Given the description of an element on the screen output the (x, y) to click on. 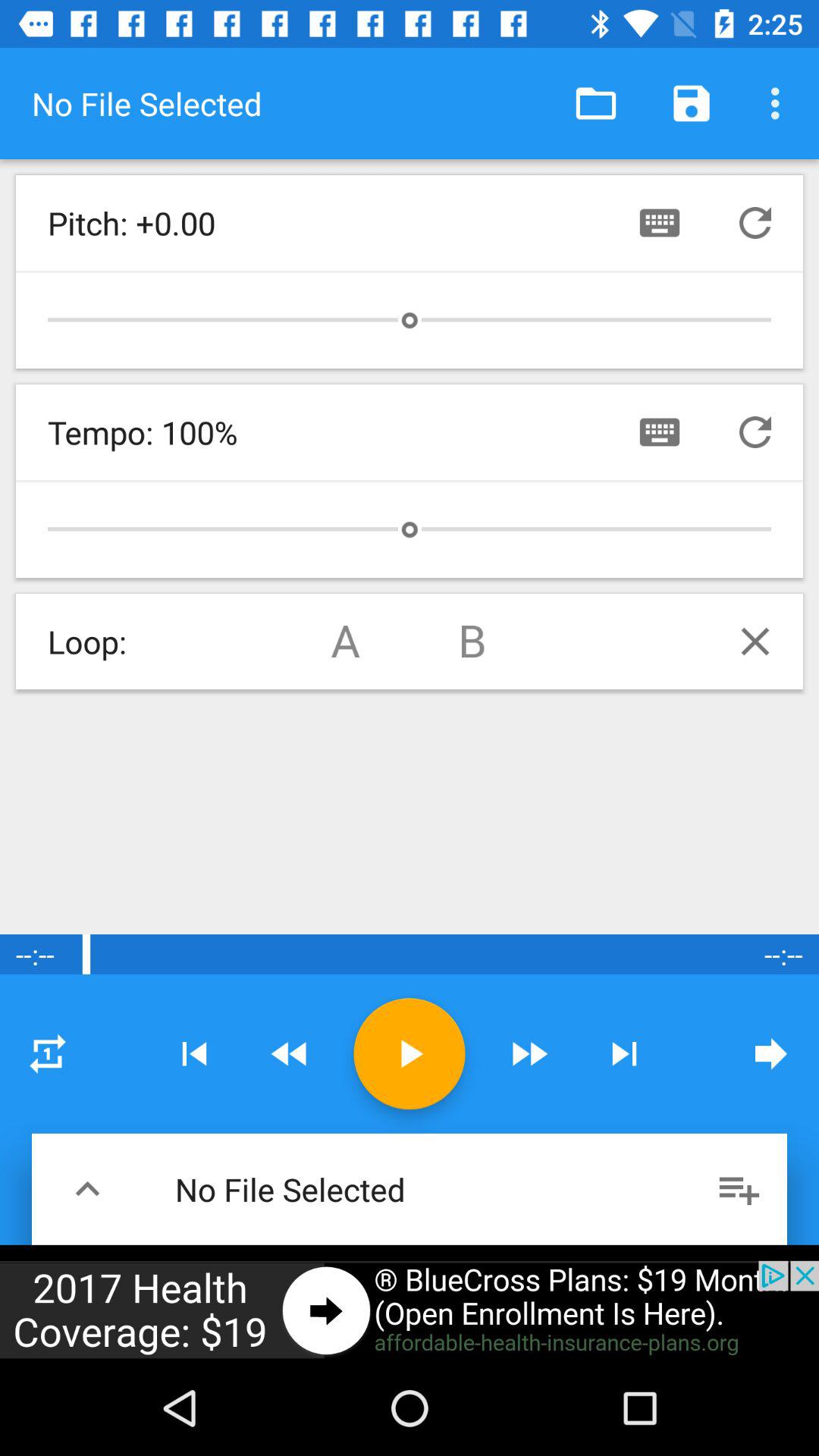
open advertisement (409, 1310)
